Given the description of an element on the screen output the (x, y) to click on. 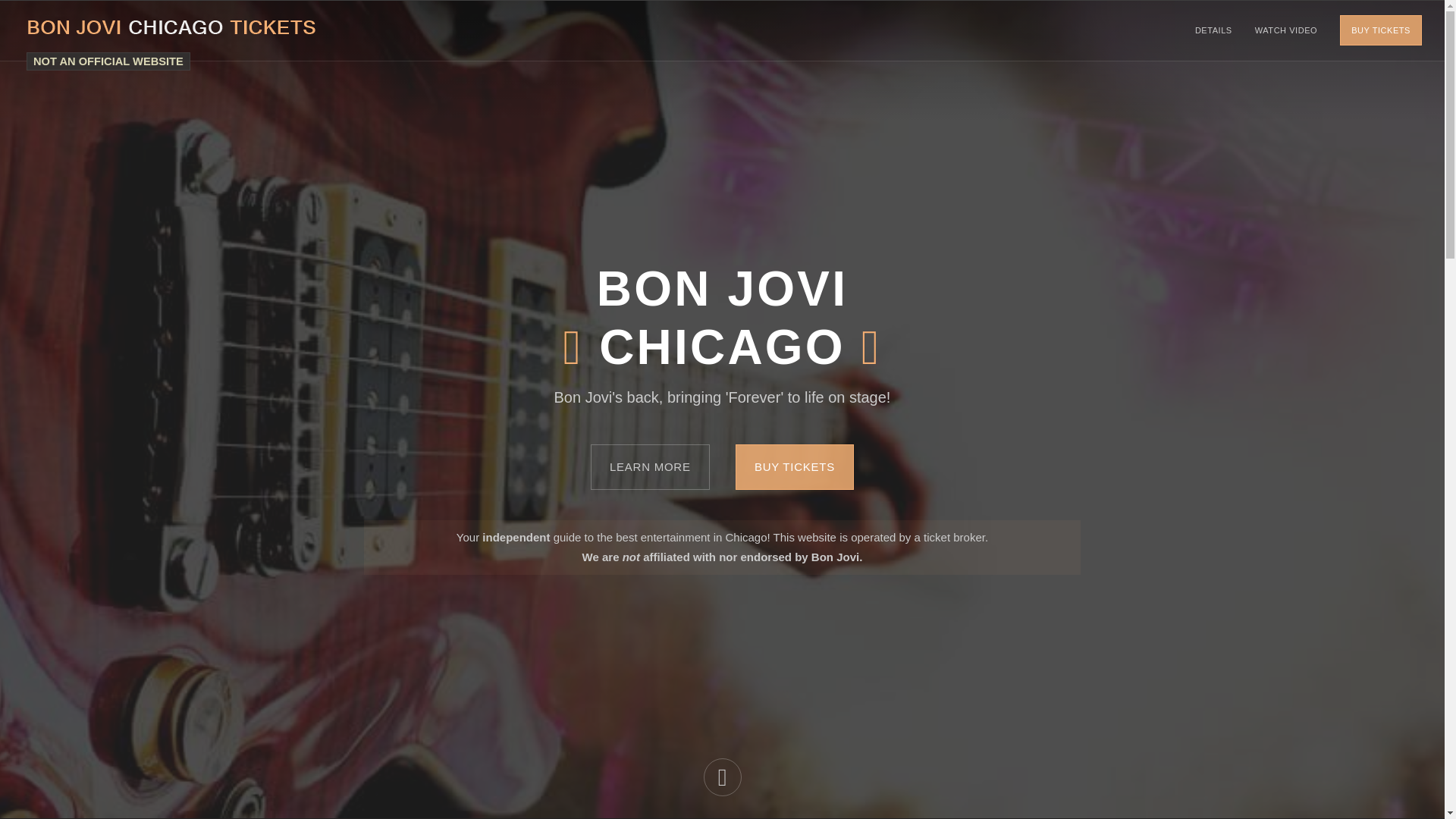
BUY TICKETS (794, 466)
This website is operated by a ticket broker. (108, 61)
DETAILS (1213, 29)
LEARN MORE (650, 466)
BUY TICKETS (1380, 30)
WATCH VIDEO (1286, 29)
